Given the description of an element on the screen output the (x, y) to click on. 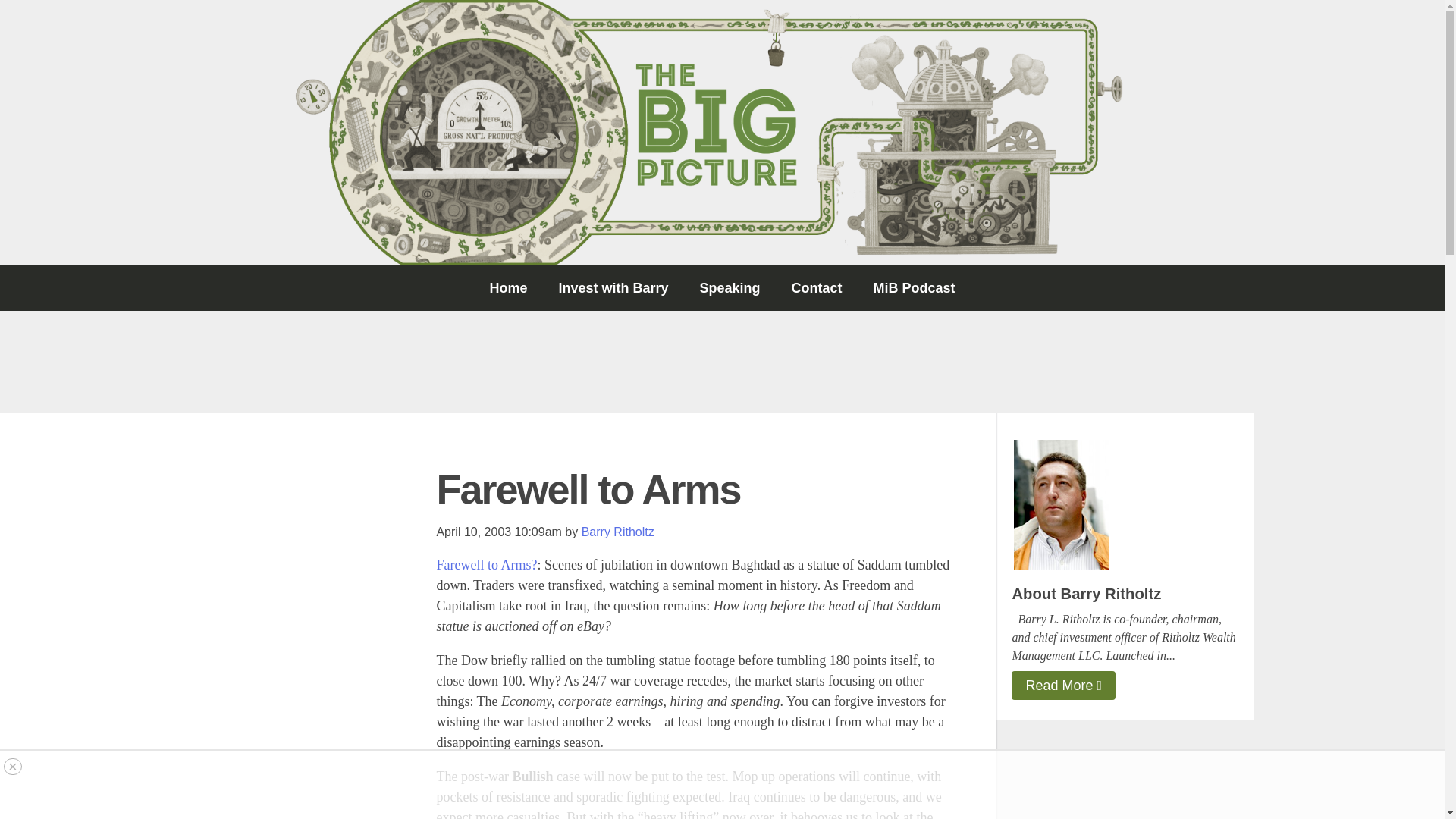
Read More (1063, 685)
Contact (816, 288)
Invest with Barry (612, 288)
Barry Ritholtz (616, 531)
Speaking (729, 288)
MiB Podcast (914, 288)
Farewell to Arms? (486, 564)
Home (508, 288)
Posts by Barry Ritholtz (616, 531)
